Given the description of an element on the screen output the (x, y) to click on. 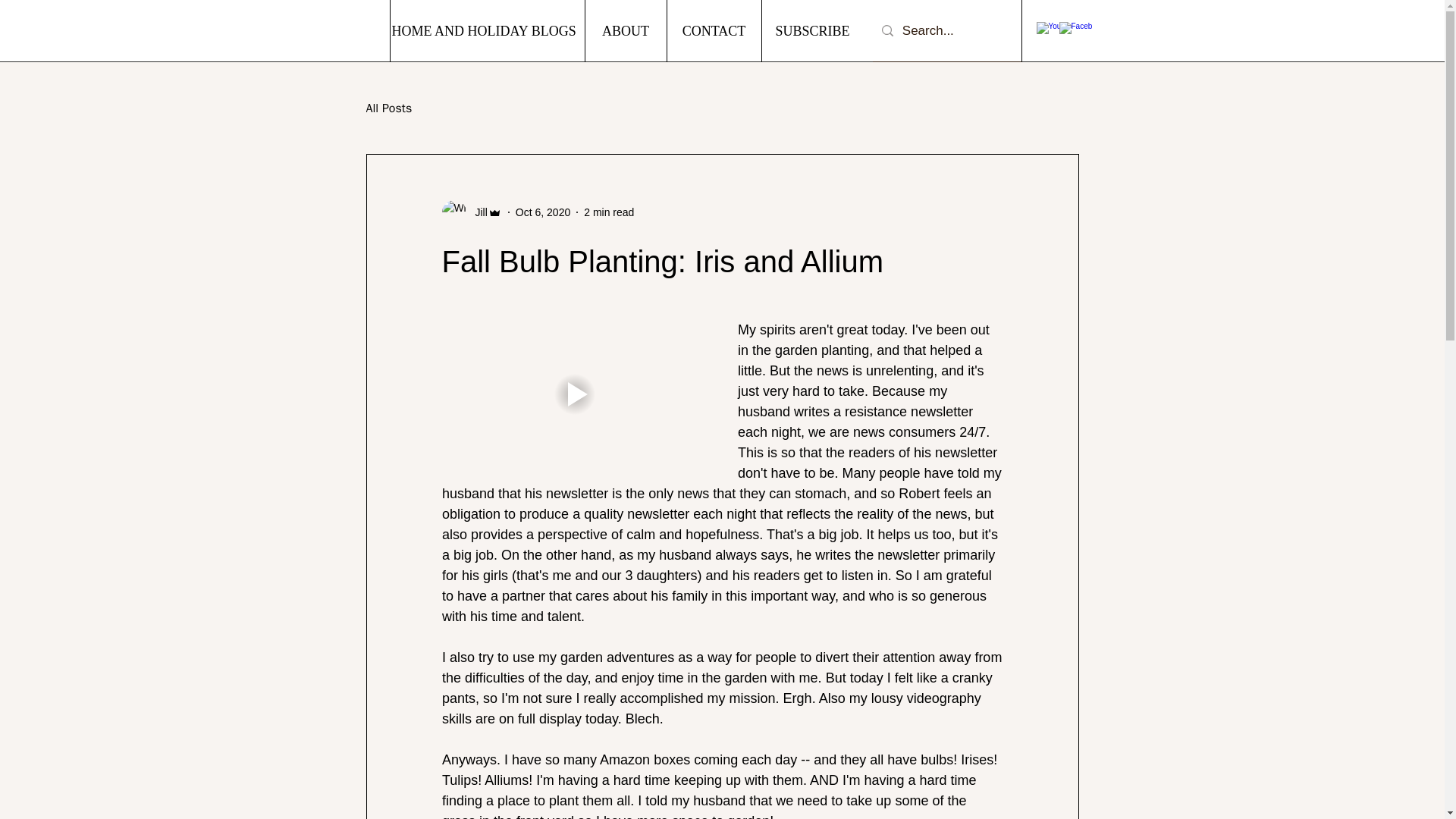
ABOUT (624, 31)
CONTACT (712, 31)
Jill (475, 212)
All Posts (388, 107)
Oct 6, 2020 (542, 212)
SUBSCRIBE (812, 31)
HOME AND HOLIDAY BLOGS (482, 31)
2 min read (608, 212)
